Given the description of an element on the screen output the (x, y) to click on. 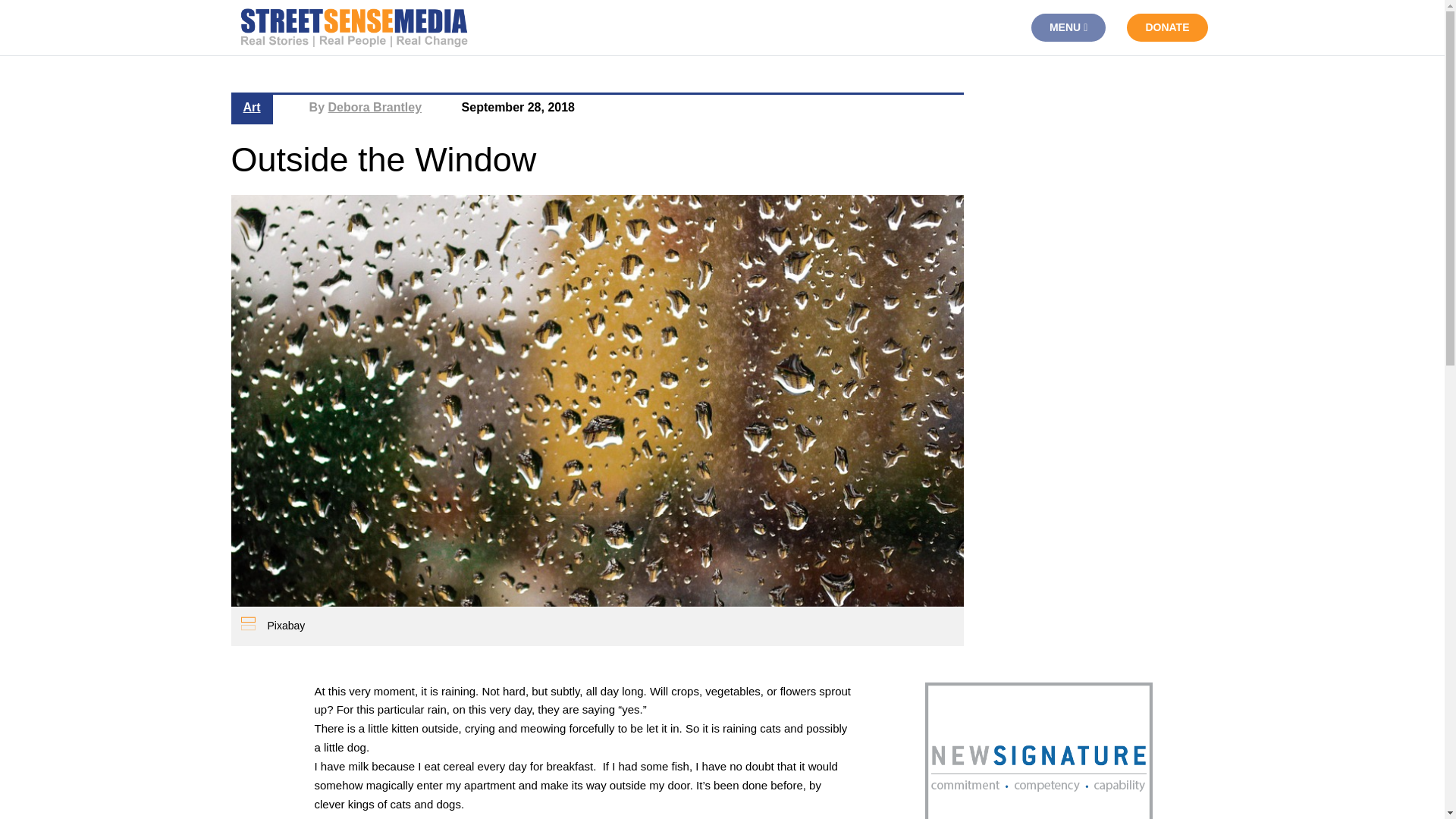
DONATE (1166, 27)
MENU (1067, 27)
Debora Brantley (375, 106)
Art (251, 106)
